Given the description of an element on the screen output the (x, y) to click on. 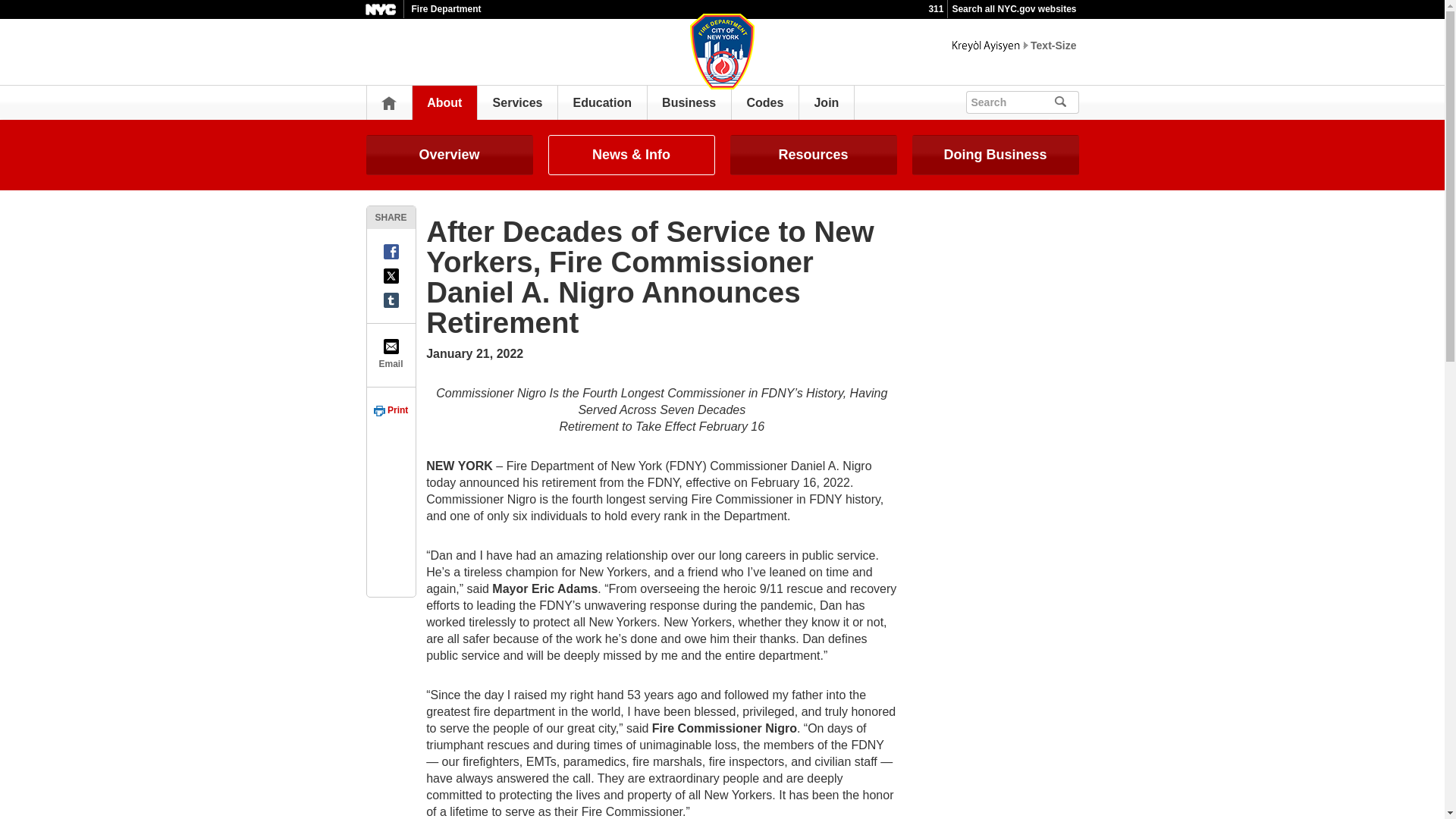
Search all NYC.gov websites (1013, 9)
Resources (812, 155)
Overview (448, 155)
Business (689, 102)
Print (390, 409)
About (443, 102)
Codes (764, 102)
Education (602, 102)
311 (935, 9)
Services (518, 102)
